Given the description of an element on the screen output the (x, y) to click on. 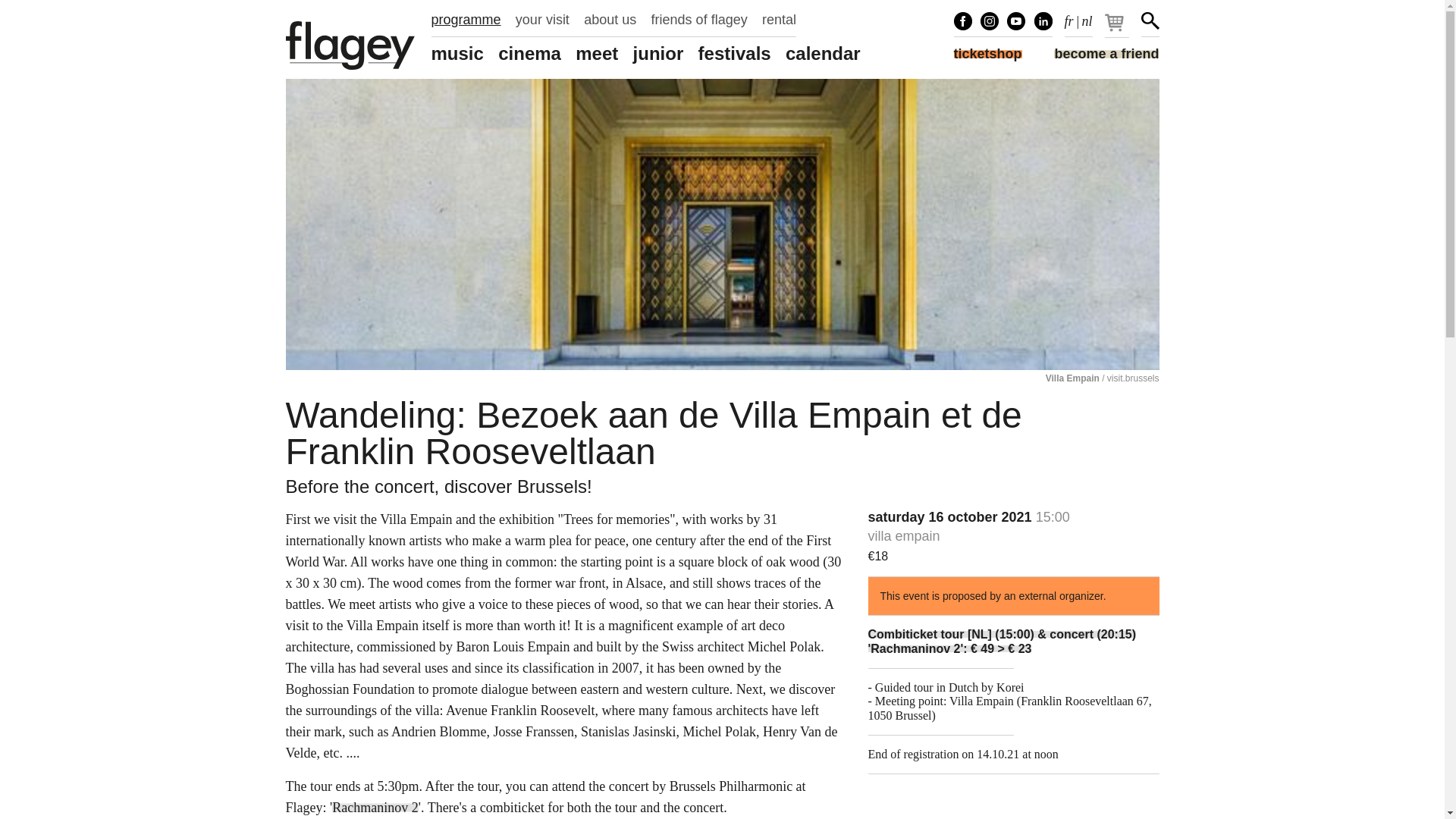
cinema (528, 53)
about us (609, 19)
rental (778, 19)
meet (596, 53)
junior (658, 53)
friends of flagey (699, 19)
programme (465, 19)
music (456, 53)
Homepage (349, 45)
your visit (542, 19)
